Given the description of an element on the screen output the (x, y) to click on. 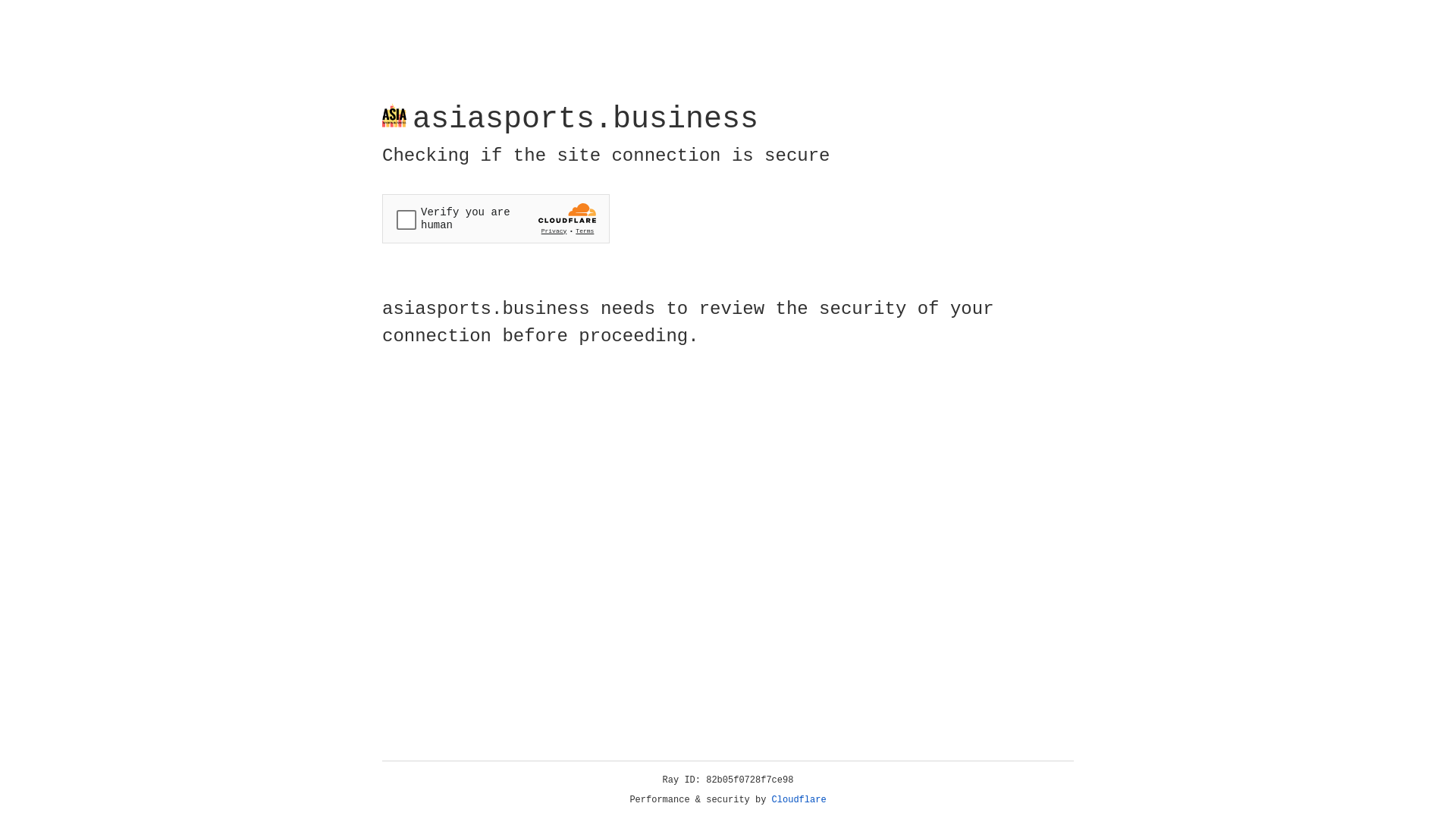
Widget containing a Cloudflare security challenge Element type: hover (495, 218)
Cloudflare Element type: text (798, 799)
